Given the description of an element on the screen output the (x, y) to click on. 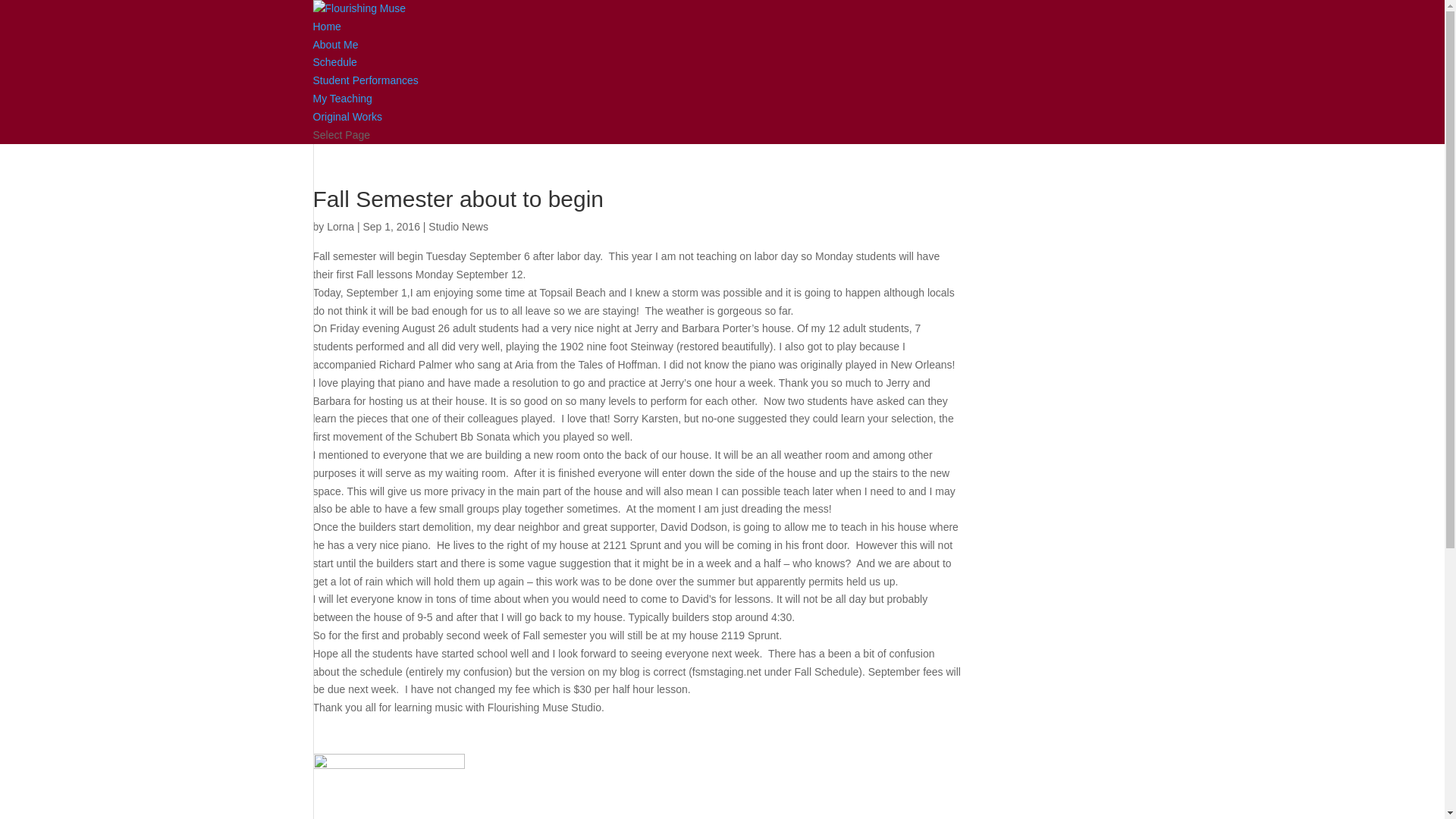
Lorna (339, 226)
Home (326, 26)
Schedule (334, 61)
My Teaching (342, 98)
Student Performances (365, 80)
Original Works (347, 116)
Posts by Lorna (339, 226)
About Me (335, 44)
Studio News (457, 226)
